Given the description of an element on the screen output the (x, y) to click on. 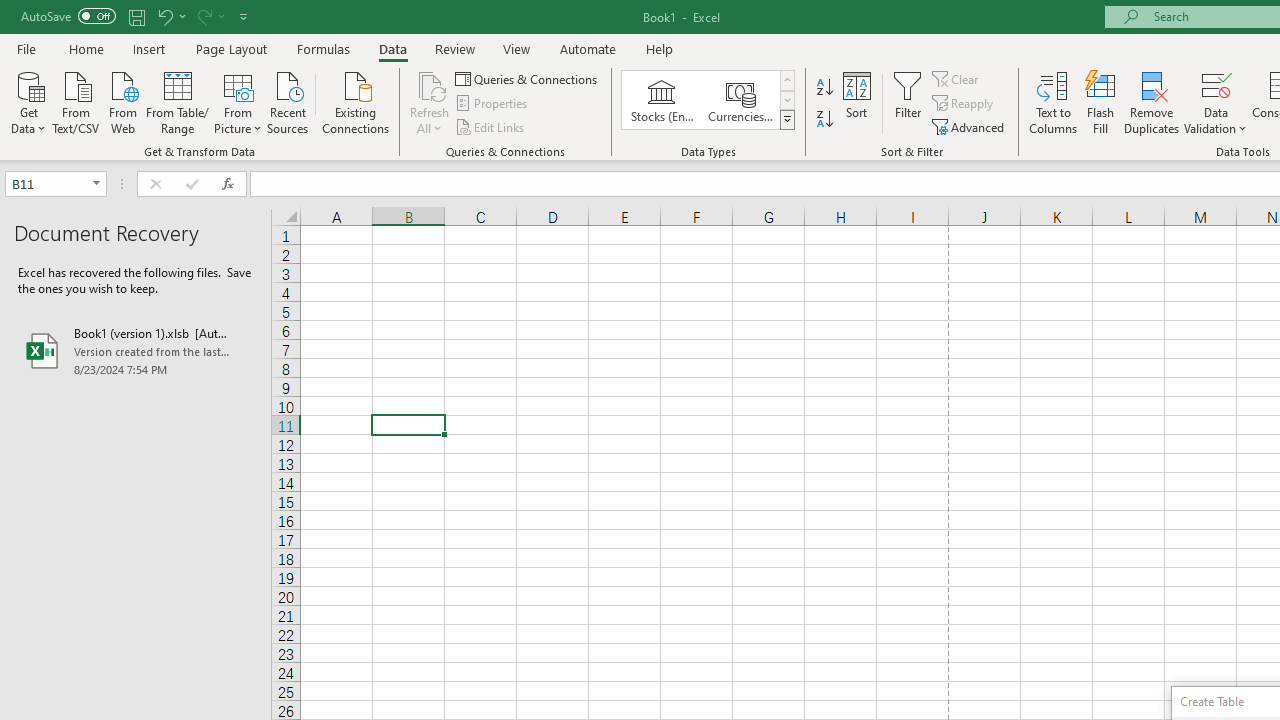
From Web (122, 101)
From Table/Range (177, 101)
Data Types (786, 120)
Currencies (English) (740, 100)
Reapply (964, 103)
Queries & Connections (527, 78)
Get Data (28, 101)
Clear (957, 78)
